Given the description of an element on the screen output the (x, y) to click on. 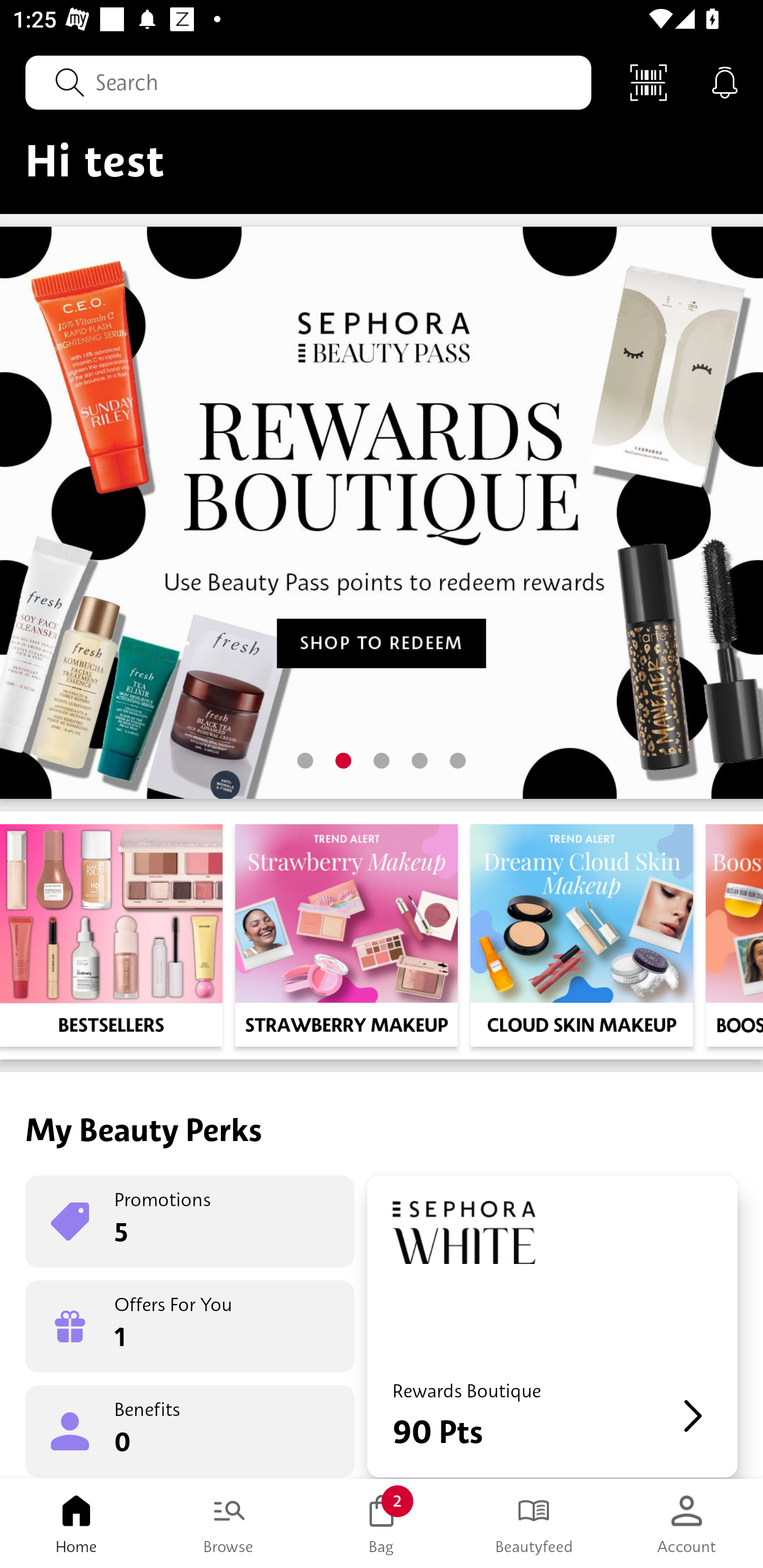
Scan Code (648, 81)
Notifications (724, 81)
Search (308, 81)
Promotions 5 (189, 1221)
Rewards Boutique 90 Pts (552, 1326)
Offers For You 1 (189, 1326)
Benefits 0 (189, 1430)
Browse (228, 1523)
Bag 2 Bag (381, 1523)
Beautyfeed (533, 1523)
Account (686, 1523)
